Given the description of an element on the screen output the (x, y) to click on. 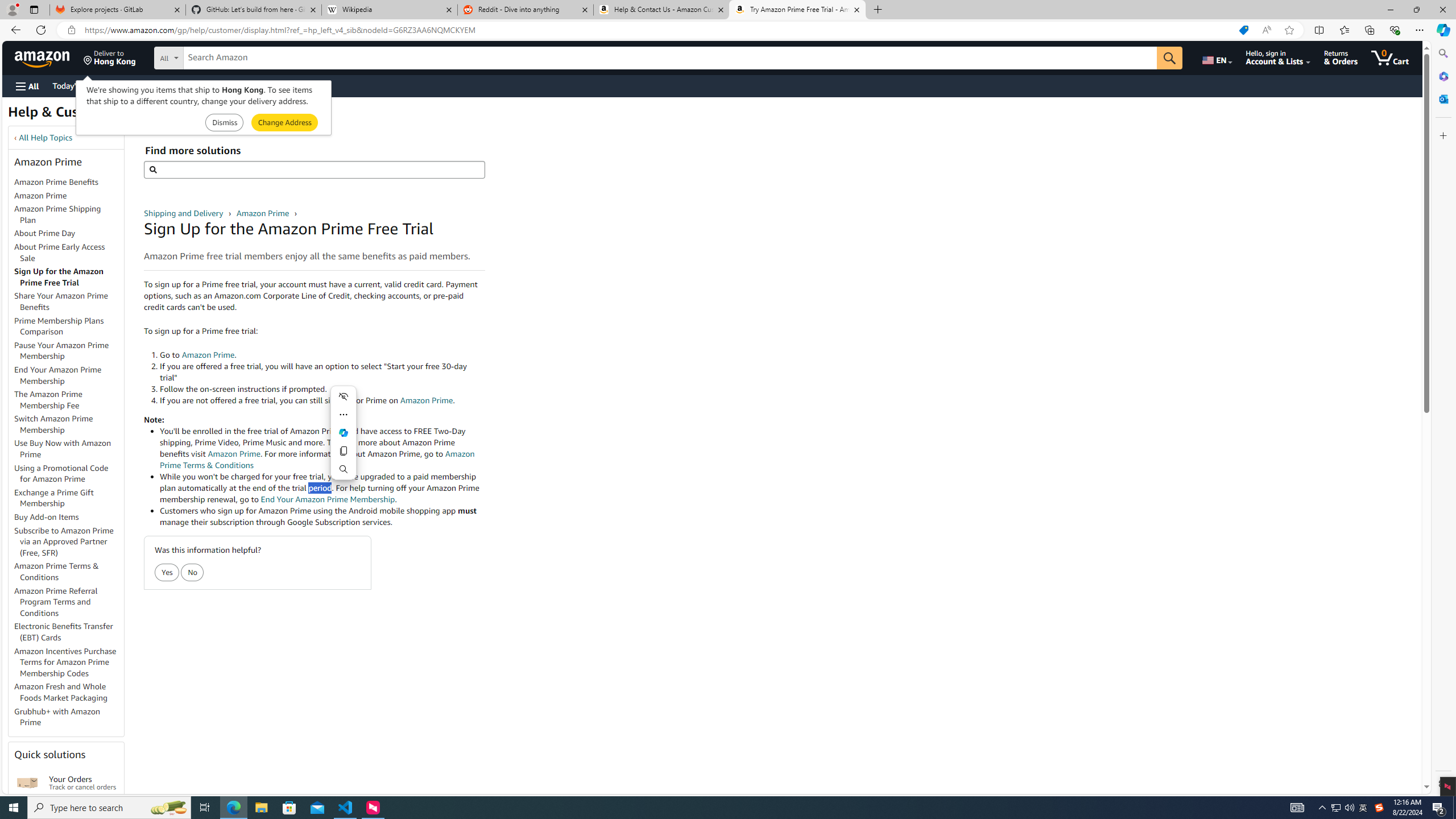
Ask Copilot (343, 432)
Electronic Benefits Transfer (EBT) Cards (63, 631)
Submit (284, 122)
Copy (343, 451)
Mini menu on text selection (343, 432)
Pause Your Amazon Prime Membership (61, 350)
Your Orders (27, 782)
Amazon Prime Shipping Plan (68, 214)
